Given the description of an element on the screen output the (x, y) to click on. 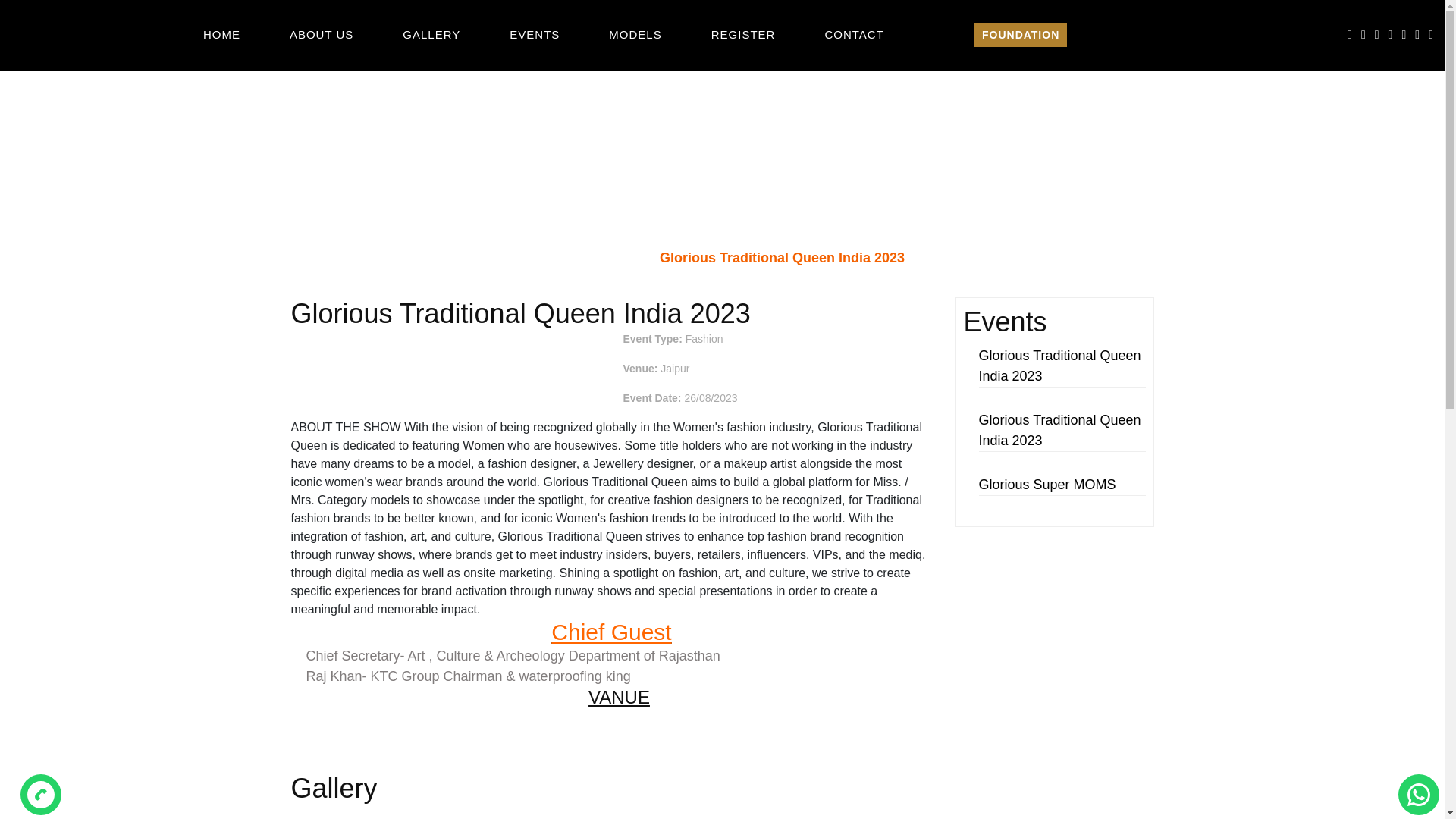
ABOUT US (321, 34)
GALLERY (431, 34)
EVENTS (534, 34)
HOME (221, 34)
MODELS (634, 34)
REGISTER (743, 34)
